Given the description of an element on the screen output the (x, y) to click on. 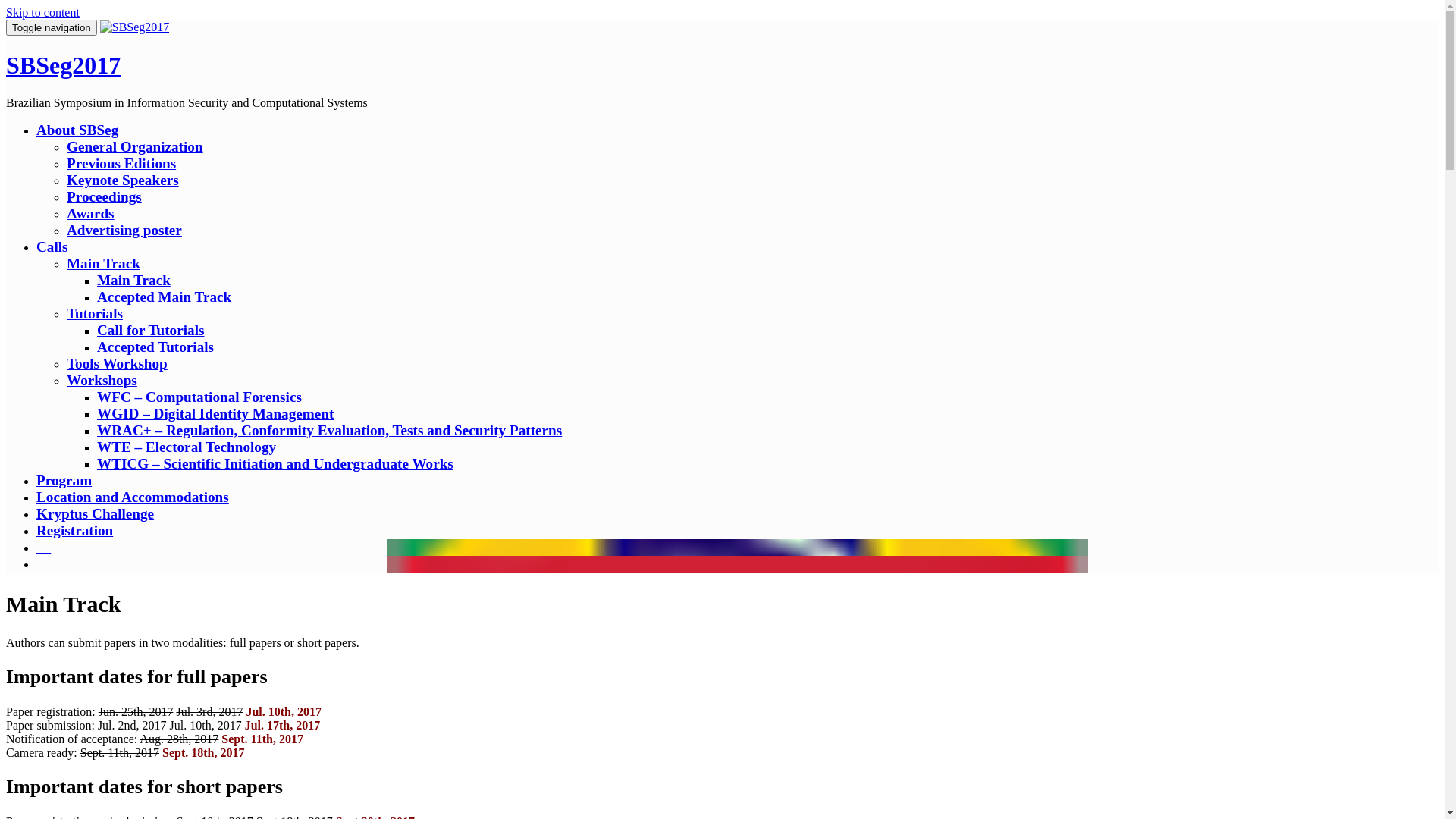
Skip to content Element type: text (42, 12)
Advertising poster Element type: text (124, 230)
     Element type: text (43, 547)
Program Element type: text (63, 480)
Accepted Main Track Element type: text (164, 296)
Accepted Tutorials Element type: text (155, 346)
Call for Tutorials Element type: text (150, 330)
Kryptus Challenge Element type: text (94, 513)
About SBSeg Element type: text (77, 130)
Keynote Speakers Element type: text (122, 180)
Main Track Element type: text (133, 280)
Tutorials Element type: text (94, 313)
Tools Workshop Element type: text (116, 363)
Toggle navigation Element type: text (51, 27)
SBSeg2017 Element type: text (63, 64)
Main Track Element type: text (103, 263)
Previous Editions Element type: text (120, 163)
Location and Accommodations Element type: text (132, 497)
Registration Element type: text (74, 530)
     Element type: text (43, 563)
Proceedings Element type: text (103, 196)
Awards Element type: text (90, 213)
Workshops Element type: text (101, 380)
General Organization Element type: text (134, 146)
Calls Element type: text (52, 246)
SBSeg2017 Element type: hover (134, 26)
